Given the description of an element on the screen output the (x, y) to click on. 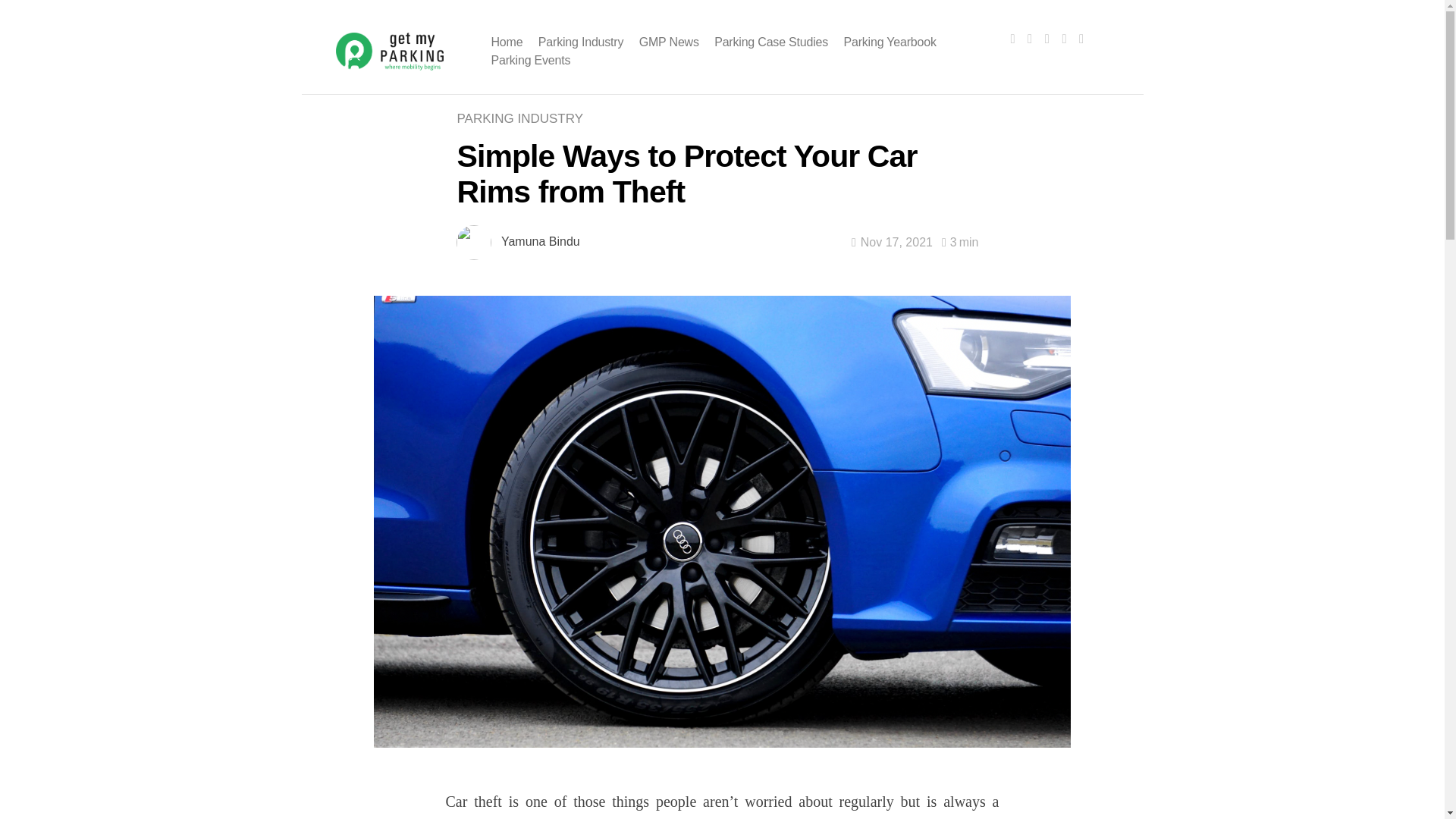
Parking Yearbook (889, 42)
Home (507, 42)
Parking Events (531, 60)
GMP News (668, 42)
Yamuna Bindu (539, 241)
PARKING INDUSTRY (524, 118)
Parking Industry (524, 118)
Posts by Yamuna Bindu (539, 241)
Parking Industry (580, 42)
Parking Case Studies (771, 42)
